Given the description of an element on the screen output the (x, y) to click on. 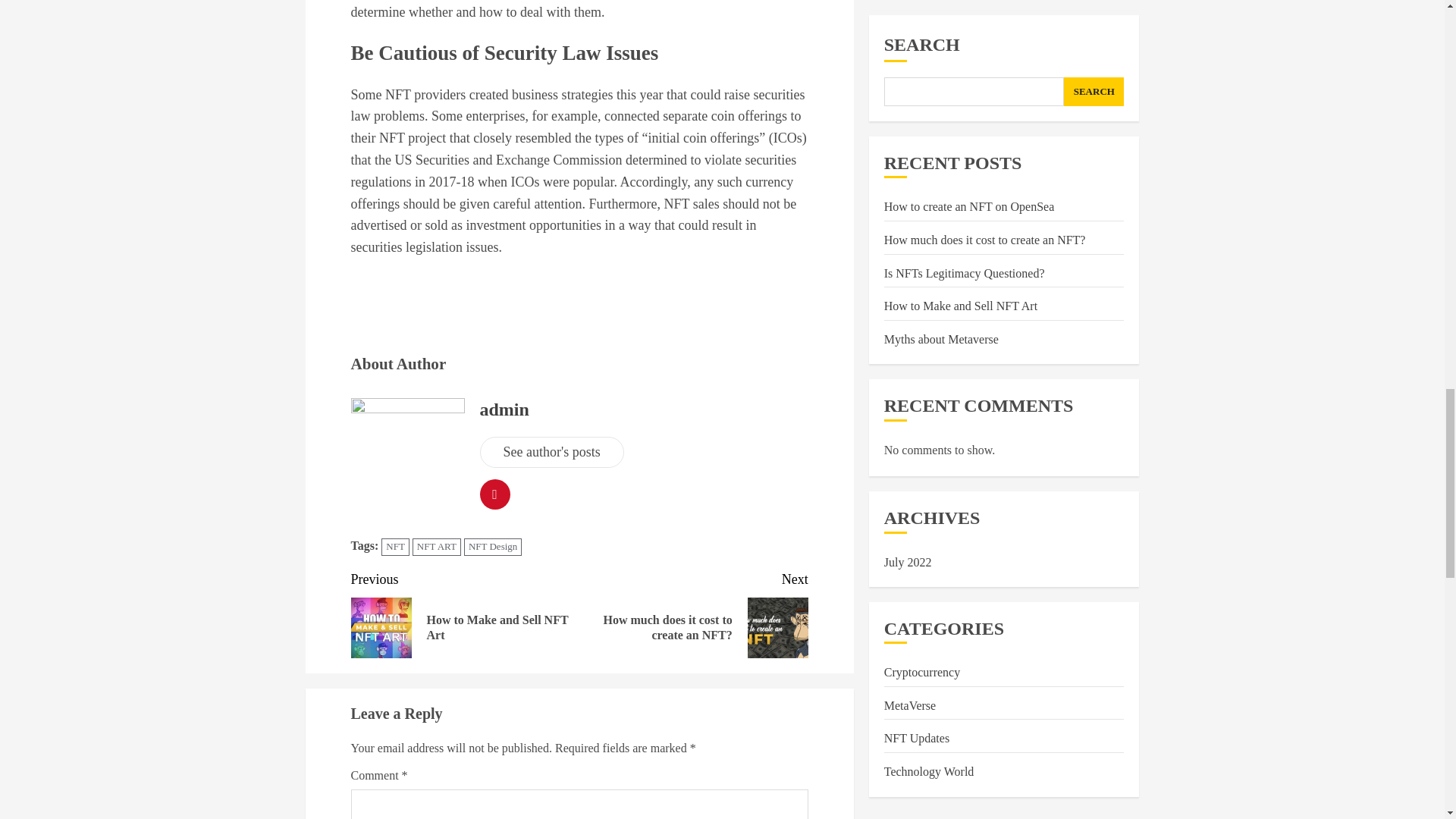
NFT Design (492, 547)
NFT ART (693, 613)
See author's posts (436, 547)
NFT (464, 613)
admin (551, 451)
